Given the description of an element on the screen output the (x, y) to click on. 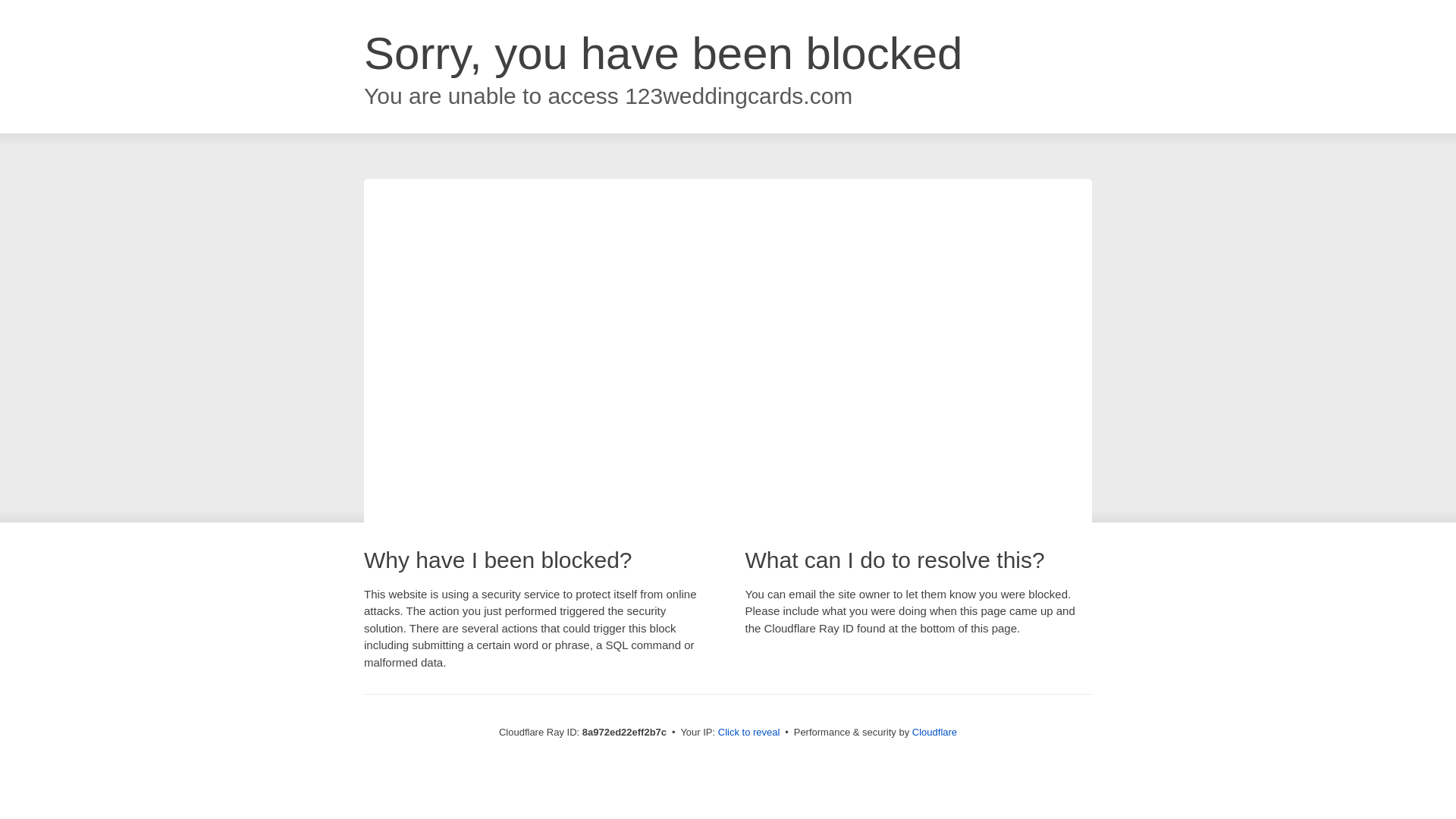
Click to reveal (748, 732)
Cloudflare (934, 731)
